Given the description of an element on the screen output the (x, y) to click on. 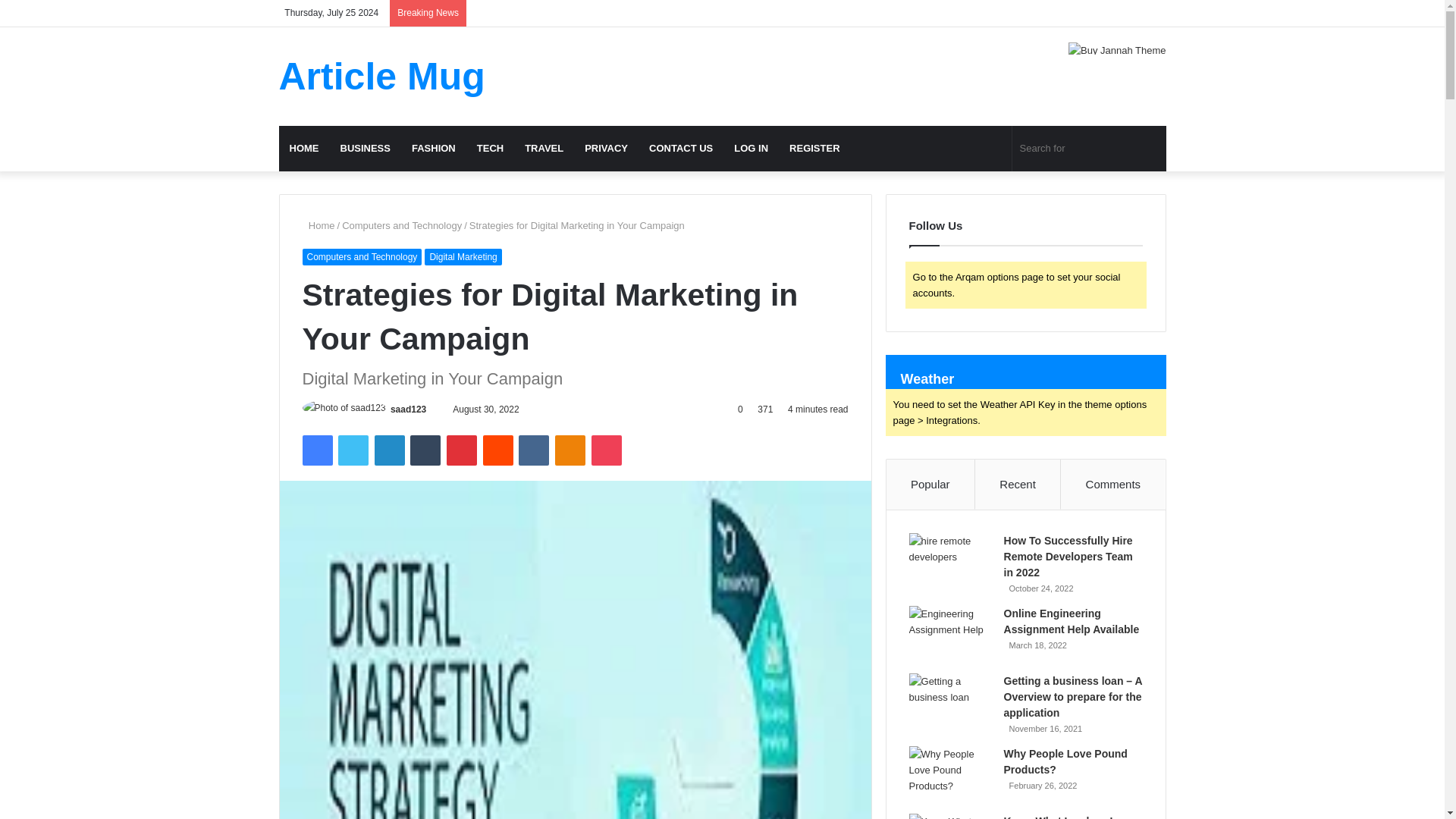
Article Mug (381, 76)
FASHION (433, 148)
Log In (1109, 13)
CONTACT US (681, 148)
saad123 (408, 409)
Instagram (1086, 13)
TECH (489, 148)
Facebook (1018, 13)
saad123 (408, 409)
Computers and Technology (361, 256)
Article Mug (381, 76)
YouTube (1063, 13)
Facebook (316, 450)
LOG IN (750, 148)
REGISTER (814, 148)
